Given the description of an element on the screen output the (x, y) to click on. 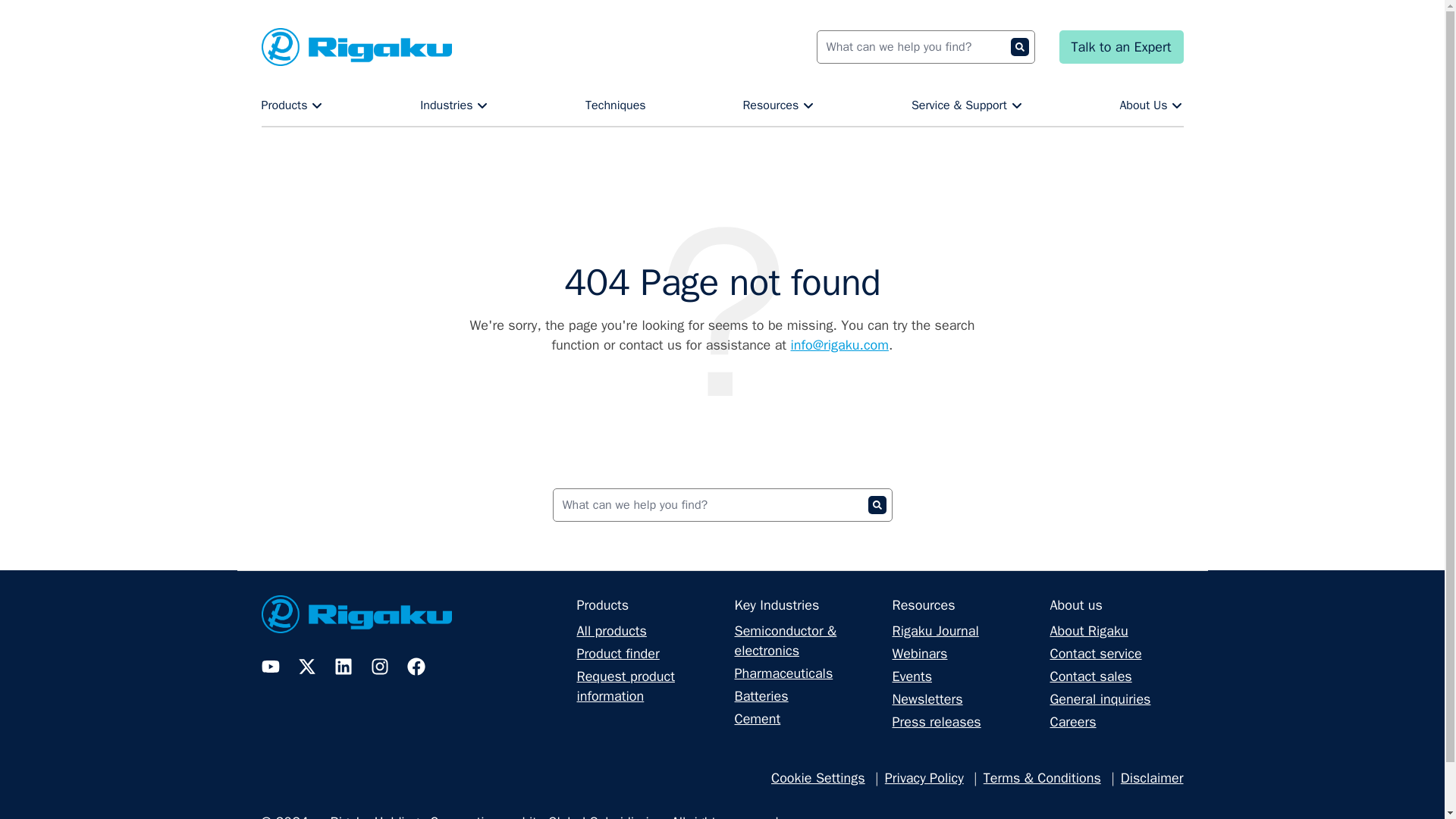
Talk to an Expert (1121, 46)
Resources (777, 105)
About Us (1150, 105)
Techniques (615, 105)
Products (291, 105)
Industries (453, 105)
